Given the description of an element on the screen output the (x, y) to click on. 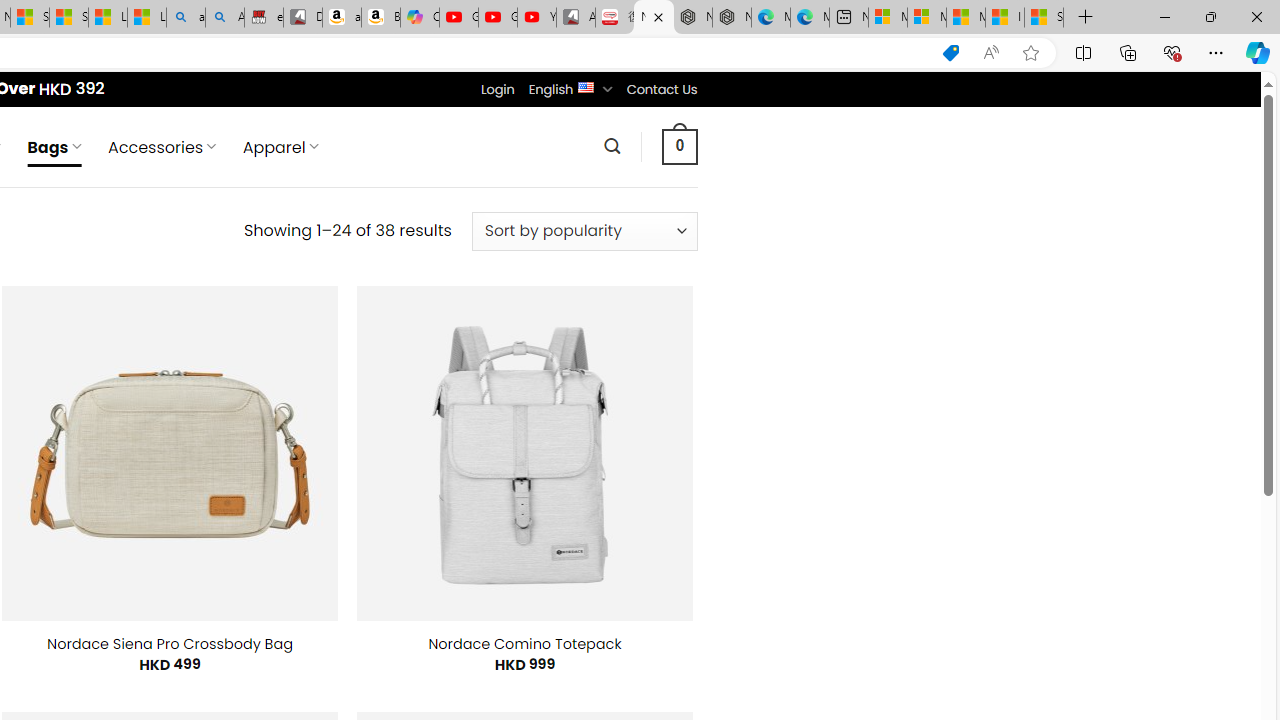
 0  (679, 146)
Nordace Siena Pro Crossbody Bag (170, 643)
Nordace - Bags (653, 17)
Add this page to favorites (Ctrl+D) (1030, 53)
Microsoft account | Privacy (926, 17)
Copilot (419, 17)
amazon - Search (185, 17)
  0   (679, 146)
